Given the description of an element on the screen output the (x, y) to click on. 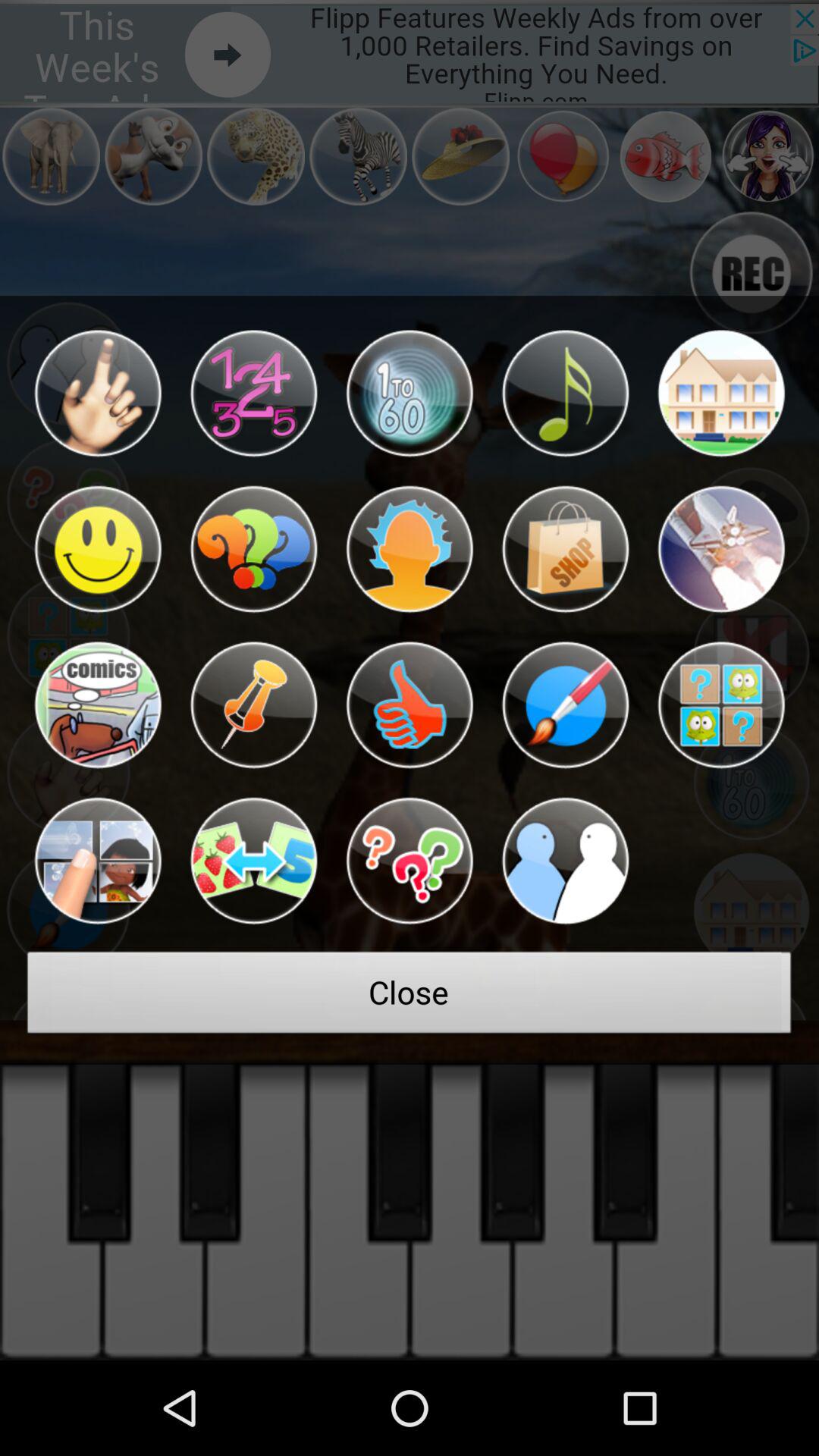
launch the item above the close item (409, 861)
